Given the description of an element on the screen output the (x, y) to click on. 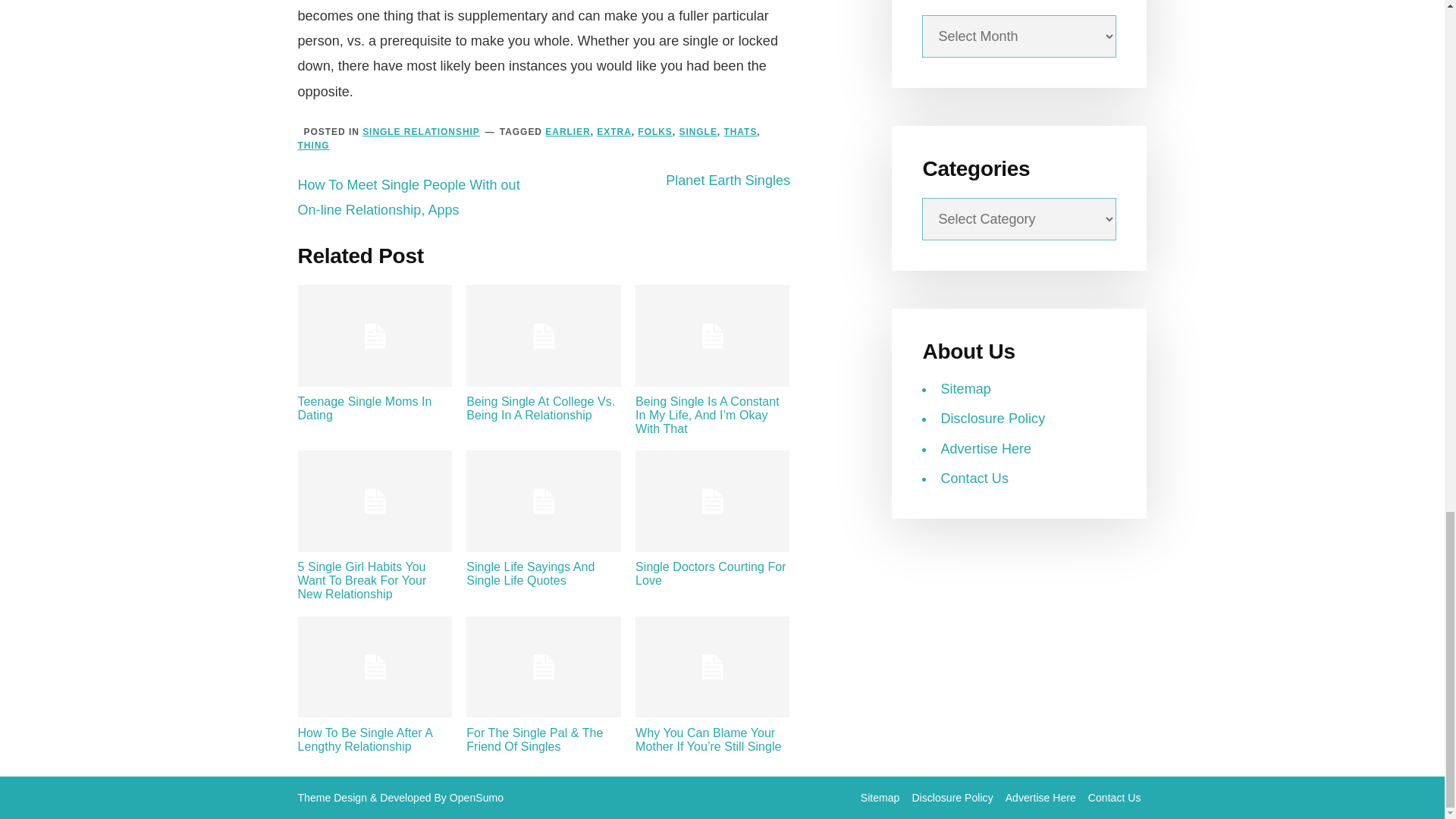
SINGLE RELATIONSHIP (421, 131)
FOLKS (654, 131)
SINGLE (697, 131)
EARLIER (566, 131)
EXTRA (613, 131)
